Given the description of an element on the screen output the (x, y) to click on. 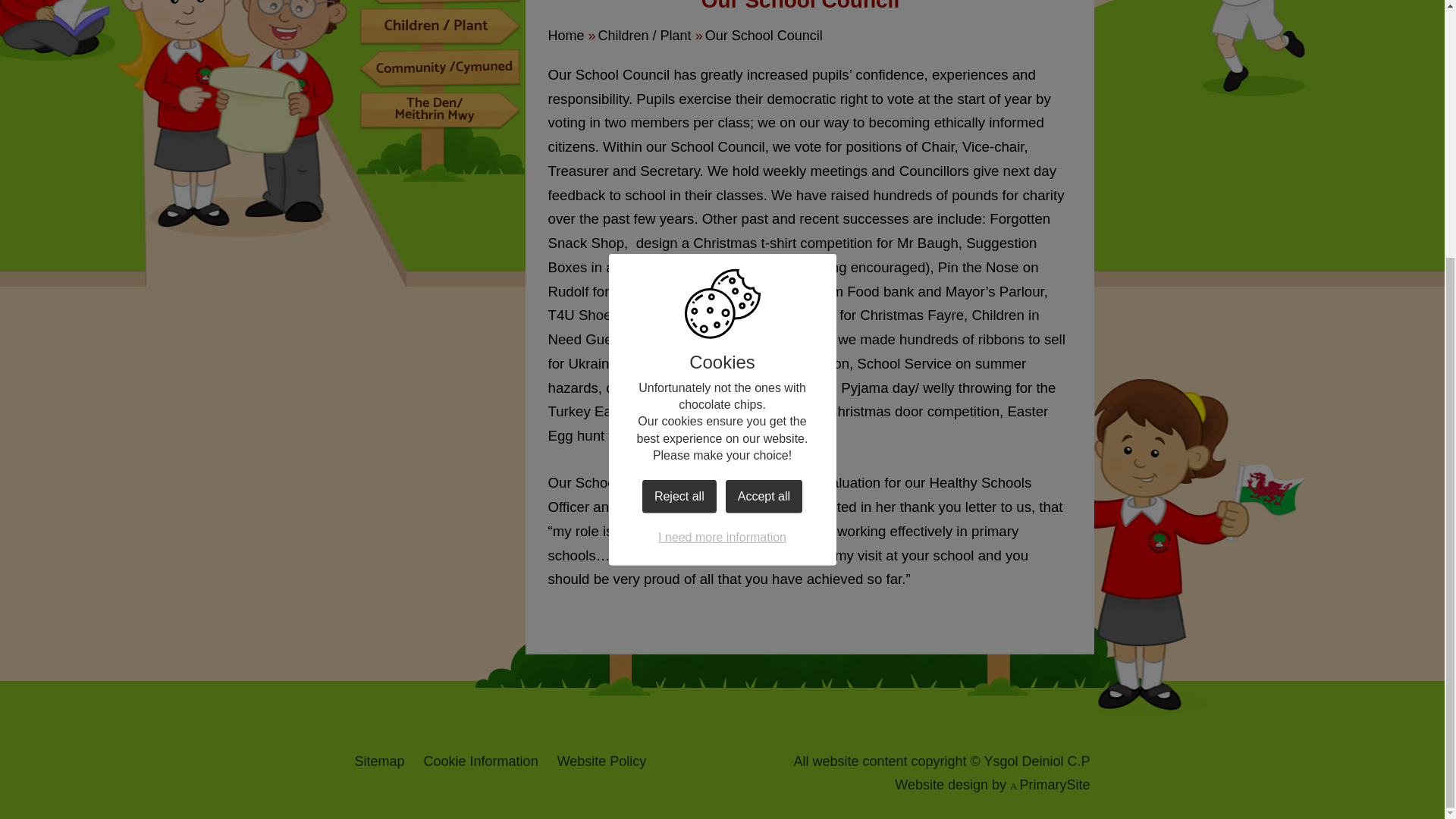
Home (565, 35)
Our School Council (763, 35)
